Given the description of an element on the screen output the (x, y) to click on. 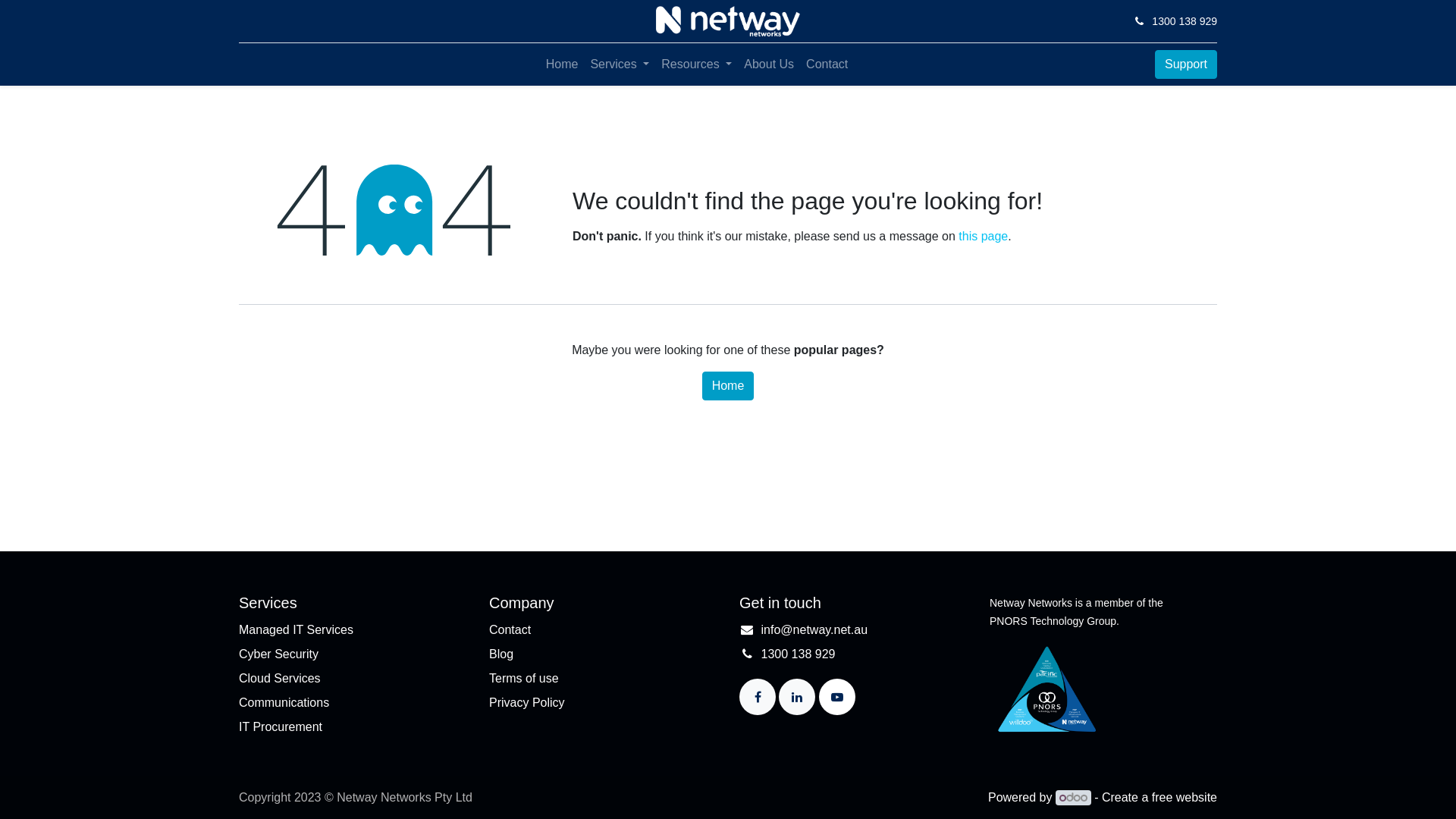
Services Element type: text (619, 64)
free website Element type: text (1184, 796)
Support Element type: text (1185, 64)
Managed IT Services Element type: text (295, 629)
1300 138 929 Element type: text (1184, 21)
Home Element type: text (728, 385)
Cyber Security Element type: text (278, 653)
Privacy Policy Element type: text (526, 702)
About Us Element type: text (768, 64)
1300 138 929 Element type: text (798, 653)
Contact Element type: text (826, 64)
Home Element type: text (561, 64)
Contact Element type: text (509, 629)
this page Element type: text (982, 235)
info@netway.net.au Element type: text (814, 629)
IT Procurement Element type: text (280, 726)
Terms of use Element type: text (523, 677)
Netway Networks Element type: hover (727, 21)
Communications Element type: text (283, 702)
Resources Element type: text (696, 64)
Blog Element type: text (501, 653)
Cloud Services Element type: text (279, 677)
